Given the description of an element on the screen output the (x, y) to click on. 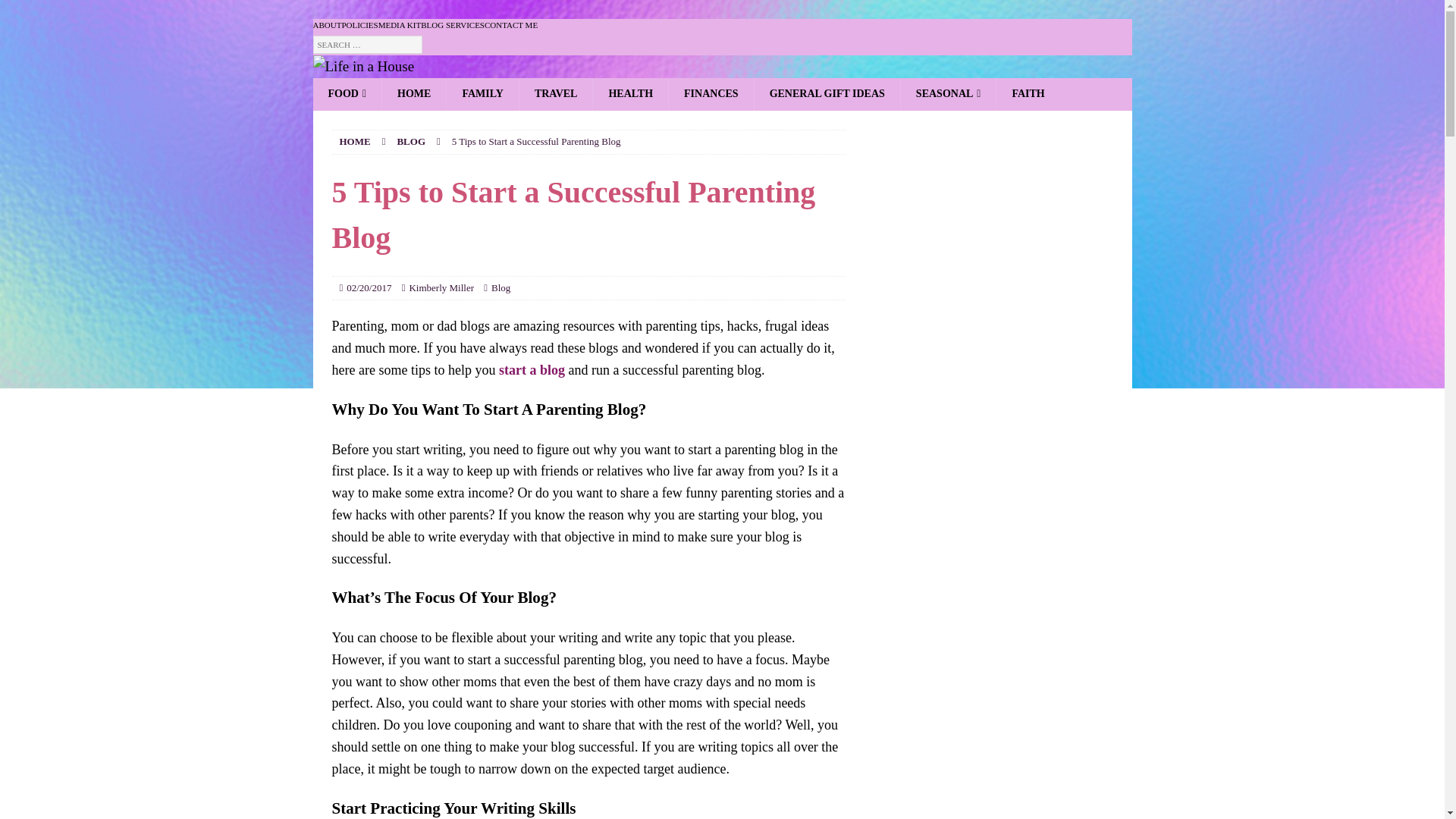
BLOG (410, 141)
HOME (413, 93)
Kimberly Miller (441, 287)
FAMILY (481, 93)
GENERAL GIFT IDEAS (826, 93)
CONTACT ME (510, 25)
FINANCES (711, 93)
Search (56, 11)
TRAVEL (555, 93)
Blog (501, 287)
